Given the description of an element on the screen output the (x, y) to click on. 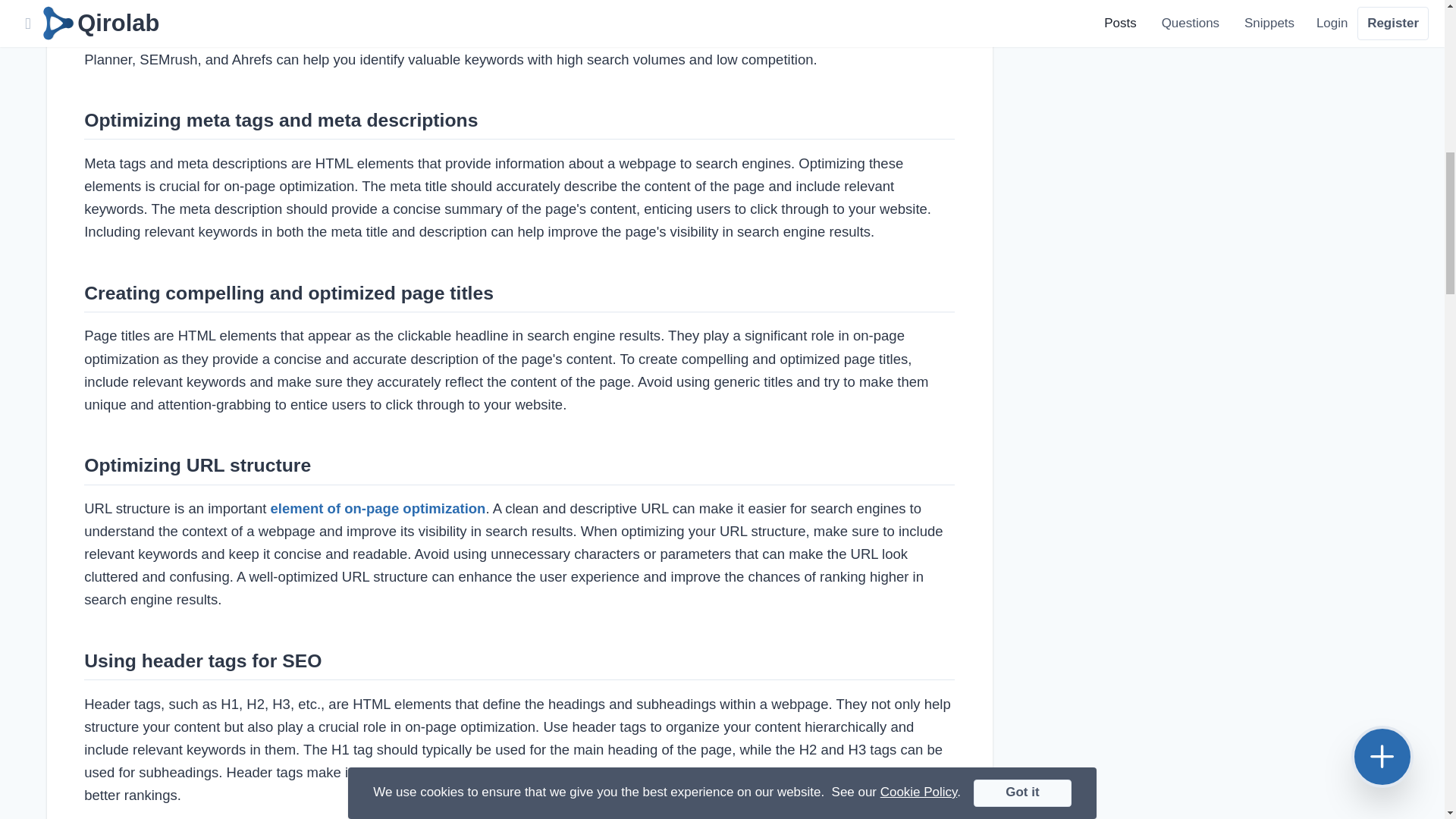
element of on-page optimization (376, 508)
